Given the description of an element on the screen output the (x, y) to click on. 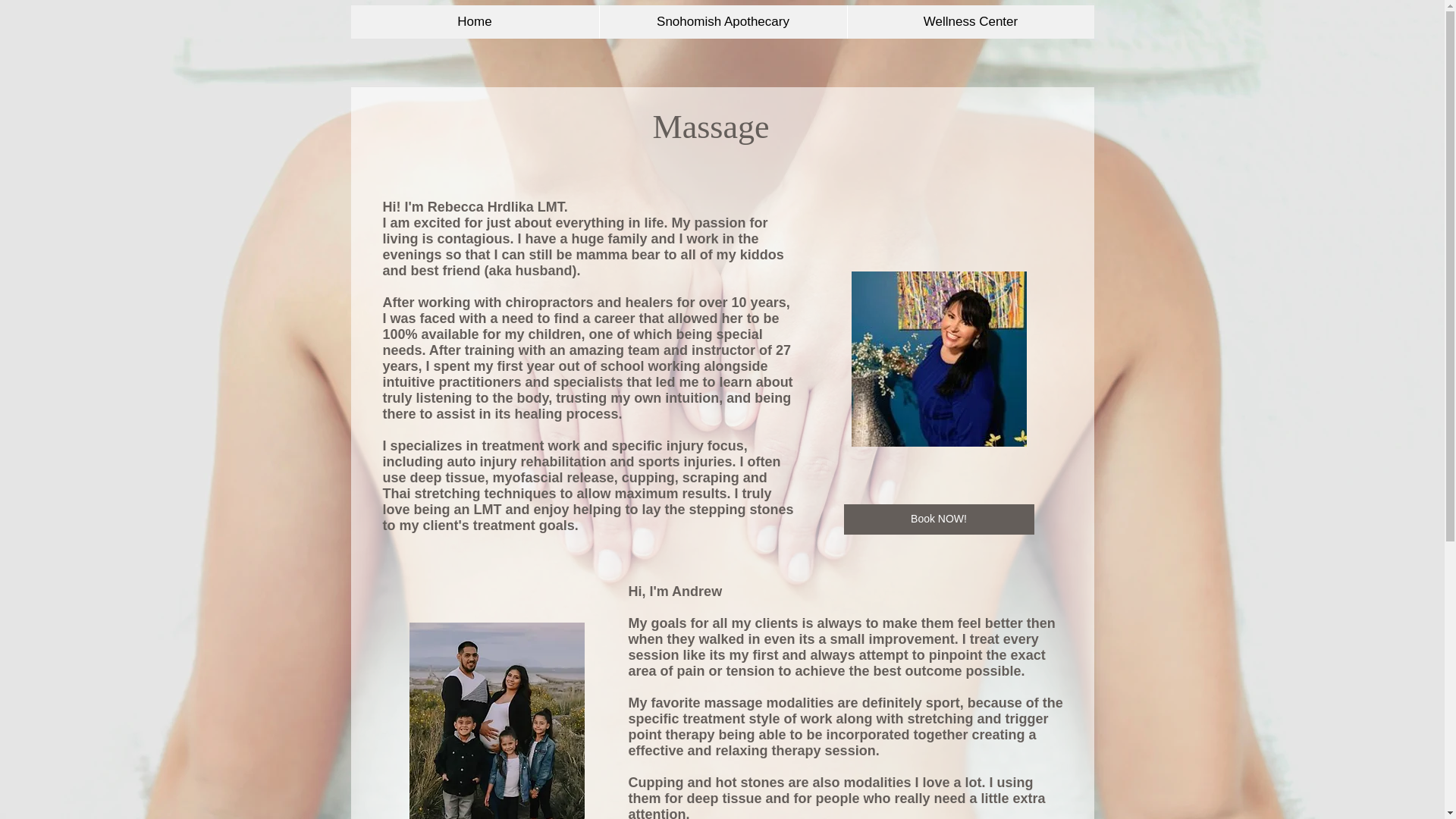
Wellness Center (969, 21)
Snohomish Apothecary (722, 21)
Book NOW! (938, 519)
Home (474, 21)
